Given the description of an element on the screen output the (x, y) to click on. 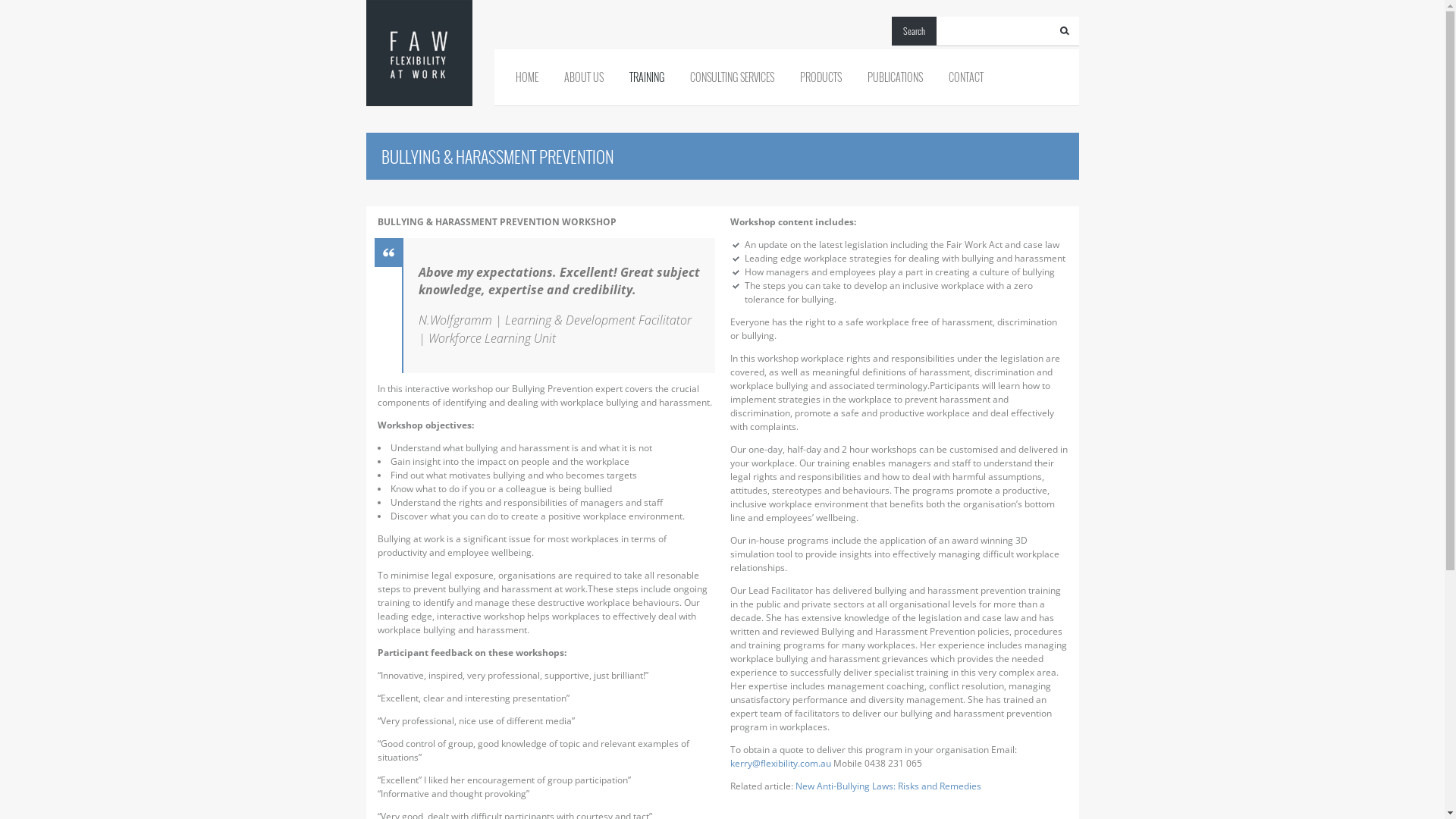
HOME Element type: text (526, 77)
PUBLICATIONS Element type: text (894, 77)
PRODUCTS Element type: text (819, 77)
ABOUT US Element type: text (583, 77)
CONSULTING SERVICES Element type: text (732, 77)
CONTACT Element type: text (964, 77)
New Anti-Bullying Laws: Risks and Remedies Element type: text (887, 785)
TRAINING Element type: text (646, 77)
Flexibility At Work Element type: hover (418, 53)
kerry@flexibility.com.au Element type: text (779, 762)
